Given the description of an element on the screen output the (x, y) to click on. 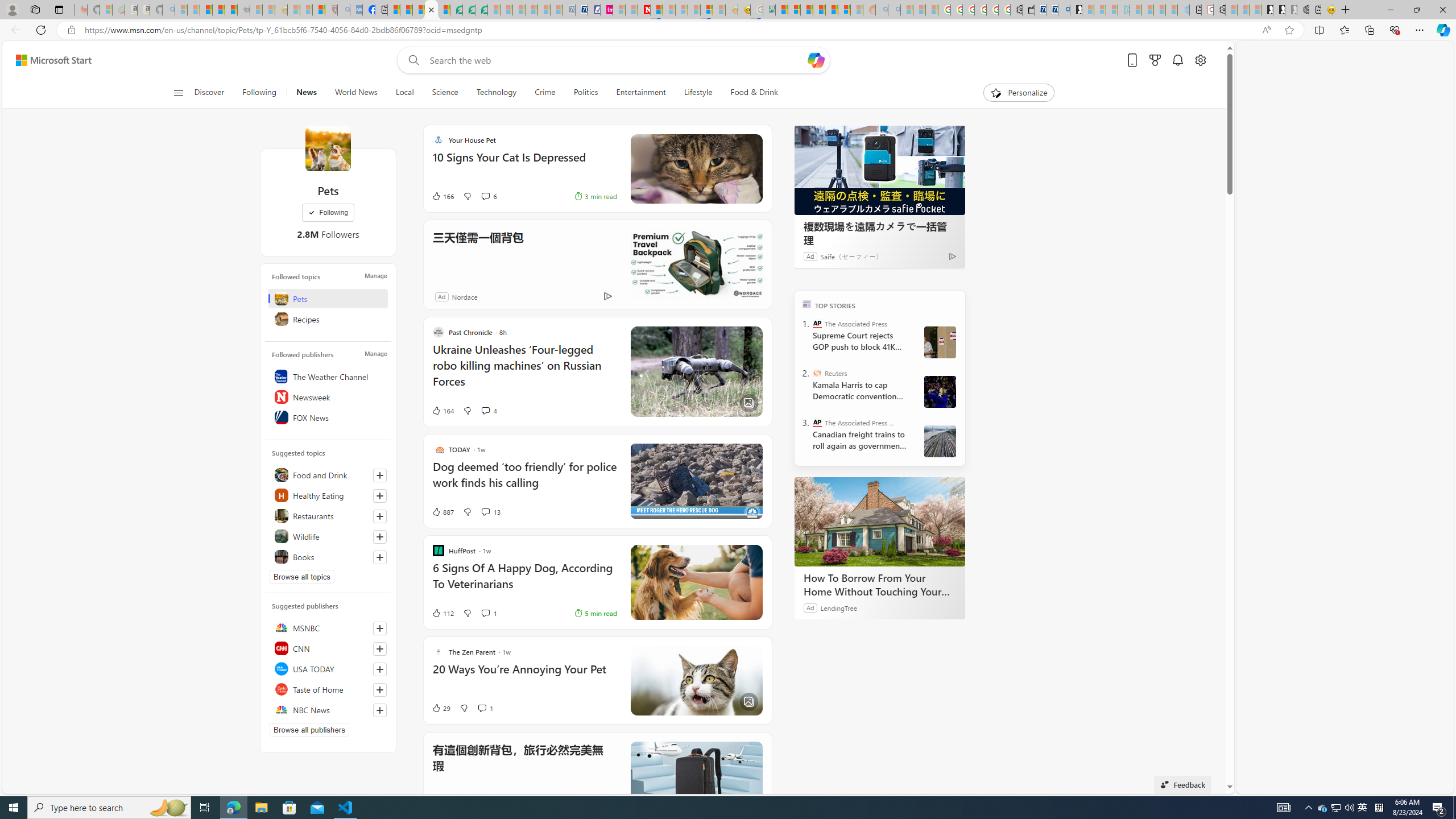
Cheap Hotels - Save70.com (581, 9)
Browse all topics (301, 576)
Enter your search term (617, 59)
View comments 6 Comment (485, 196)
